Given the description of an element on the screen output the (x, y) to click on. 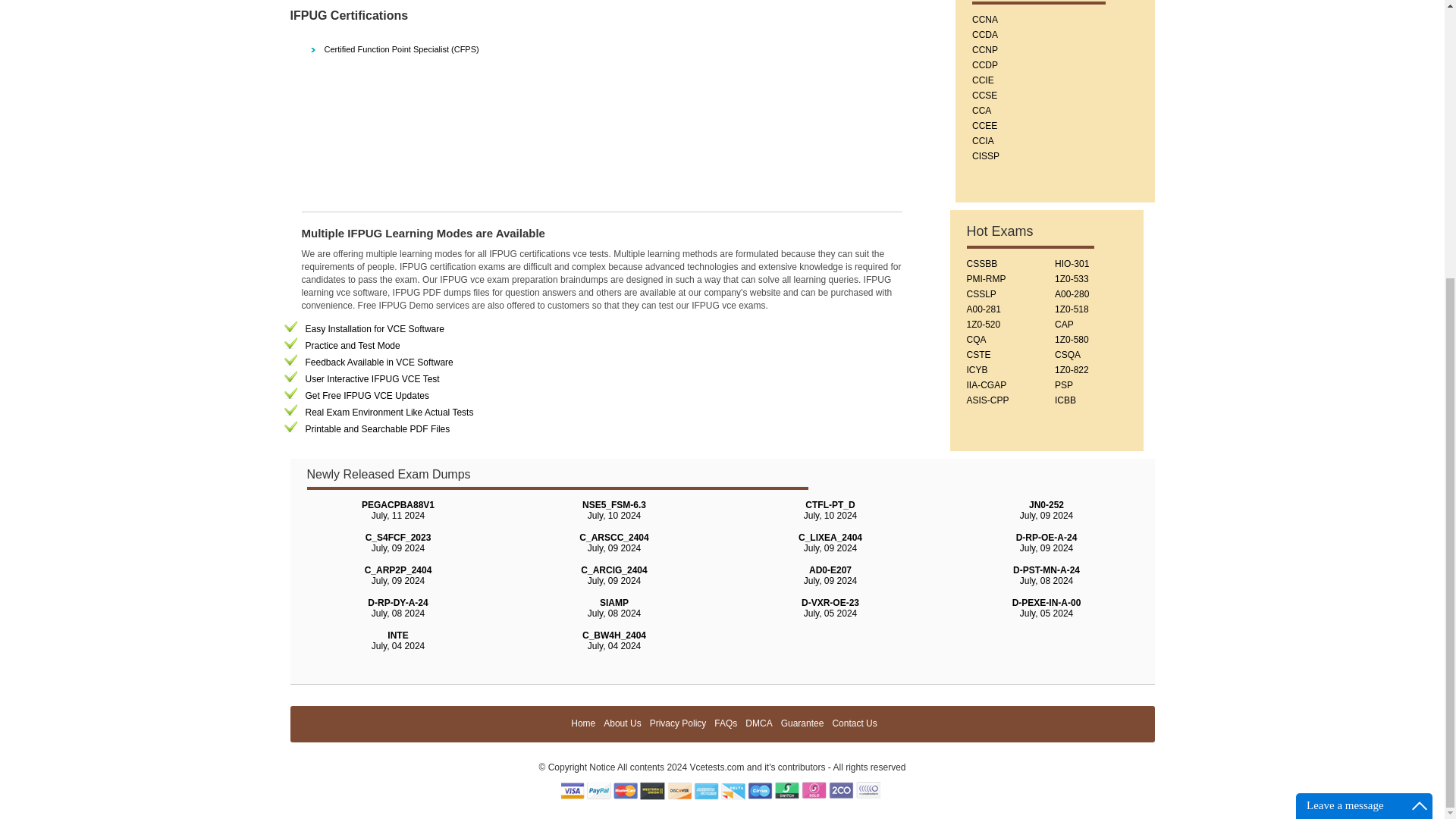
CSSLP (980, 294)
PMI-RMP (986, 278)
A00-281 (983, 308)
CCIA (983, 140)
1Z0-518 (1071, 308)
CCEE (984, 125)
CCSE (984, 95)
CCIE (983, 80)
CCNA (984, 19)
CCDP (984, 64)
1Z0-533 (1071, 278)
HIO-301 (1071, 263)
Maximize (1419, 393)
CCA (981, 110)
1Z0-520 (983, 324)
